Given the description of an element on the screen output the (x, y) to click on. 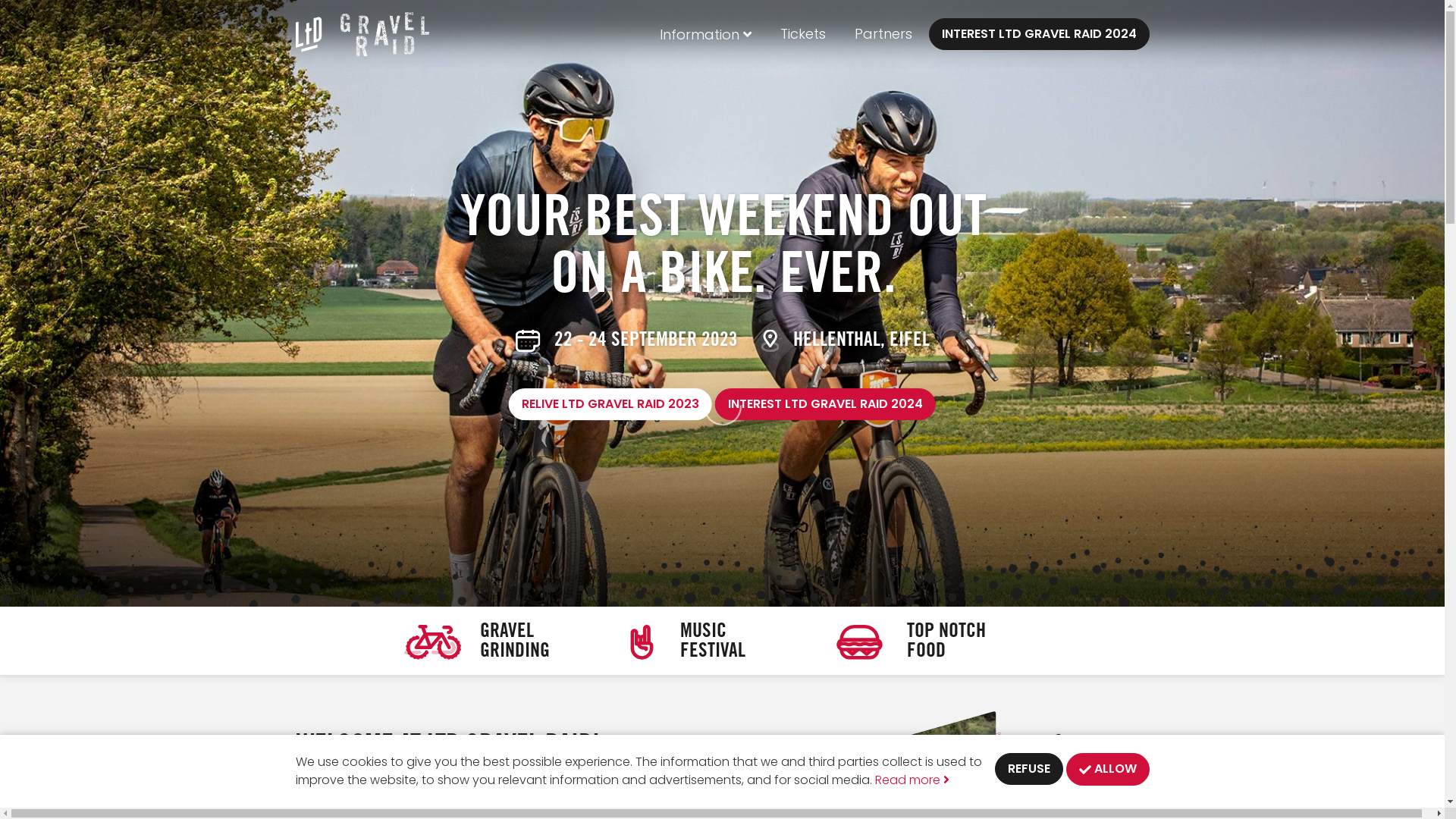
INTEREST LTD GRAVEL RAID 2024 Element type: text (1038, 34)
RELIVE LTD GRAVEL RAID 2023 Element type: text (610, 404)
GRAVEL GRINDING Element type: text (504, 640)
ALLOW Element type: text (1107, 769)
Read more Element type: text (912, 779)
INTEREST LTD GRAVEL RAID 2024 Element type: text (825, 404)
MUSIC
FESTIVAL Element type: text (713, 640)
TOP NOTCH
FOOD Element type: text (931, 640)
REFUSE Element type: text (1028, 768)
Partners Element type: text (882, 34)
Tickets Element type: text (802, 34)
